Given the description of an element on the screen output the (x, y) to click on. 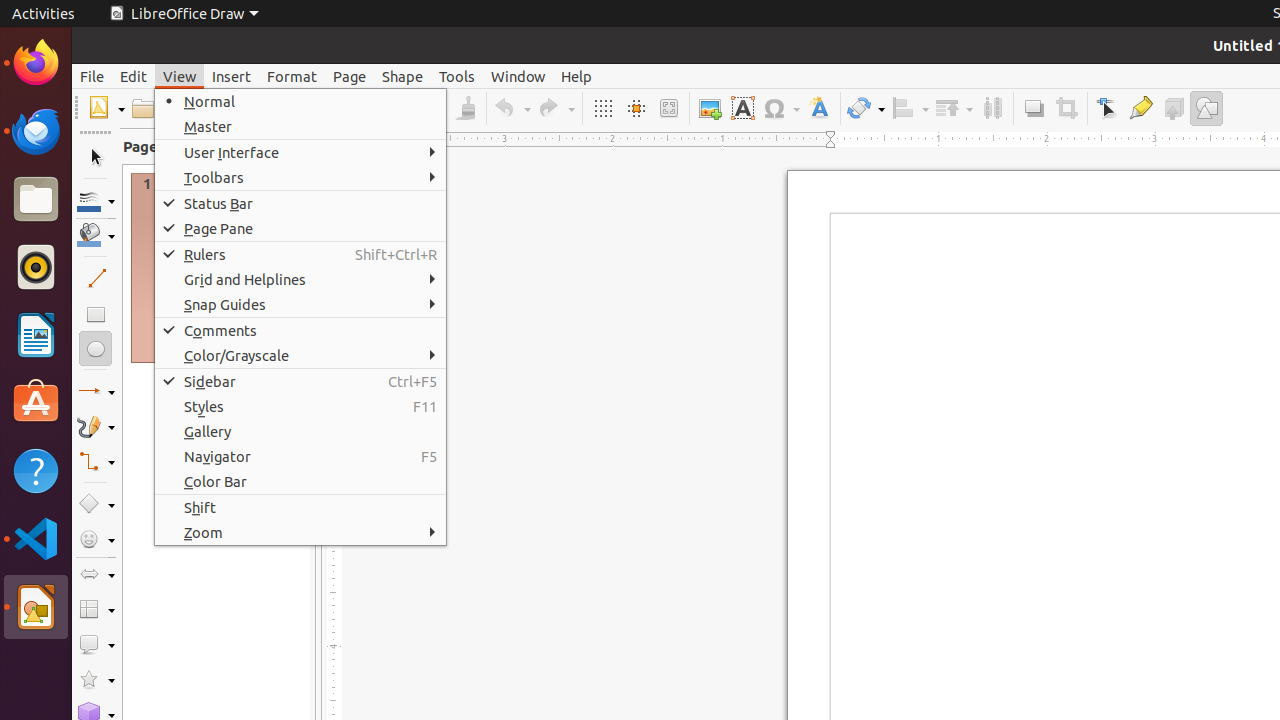
New Element type: push-button (106, 108)
LibreOffice Draw Element type: menu (183, 13)
Glue Points Element type: push-button (1140, 108)
Window Element type: menu (518, 76)
Rhythmbox Element type: push-button (36, 267)
